Given the description of an element on the screen output the (x, y) to click on. 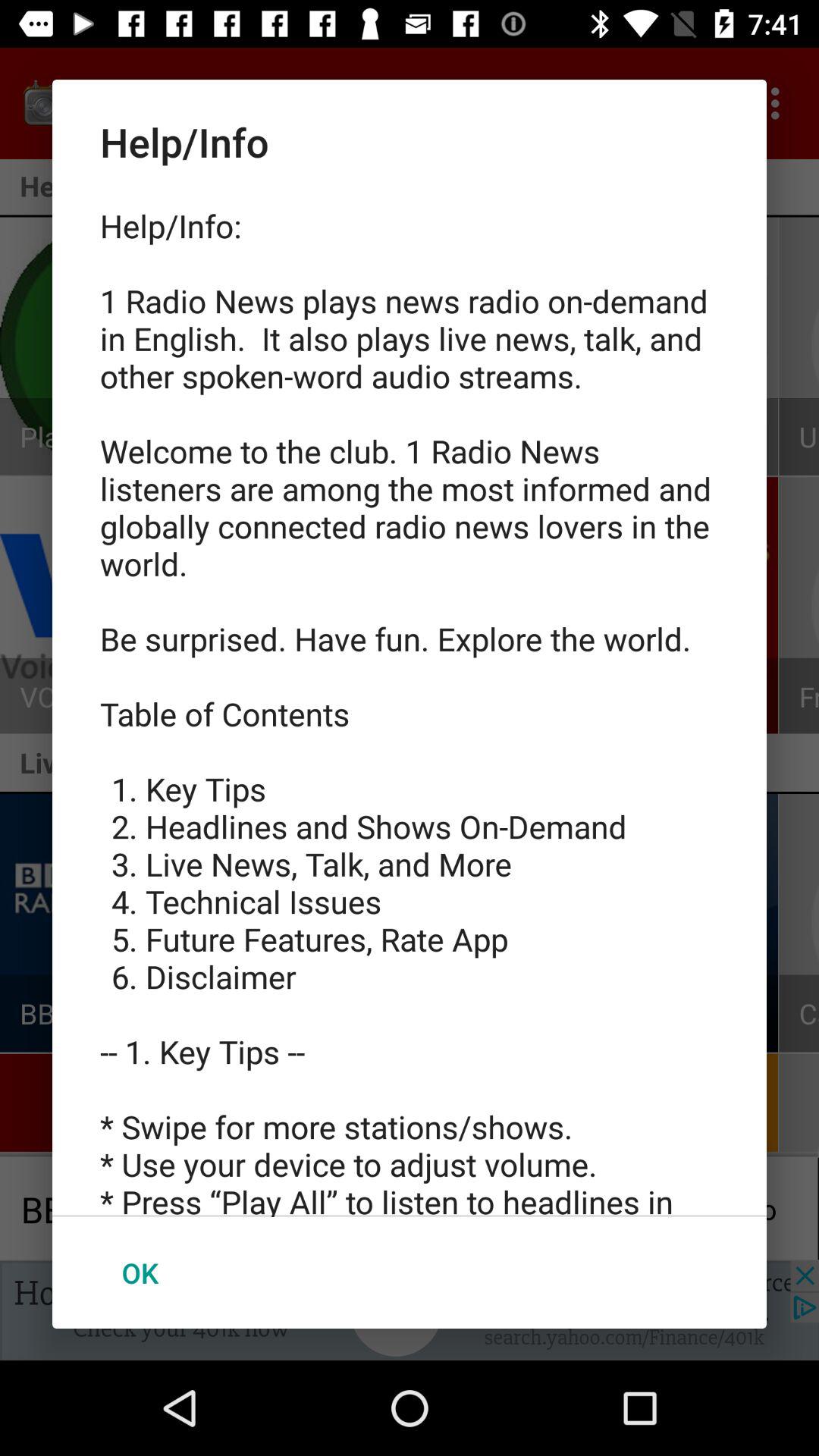
jump to ok item (139, 1272)
